Given the description of an element on the screen output the (x, y) to click on. 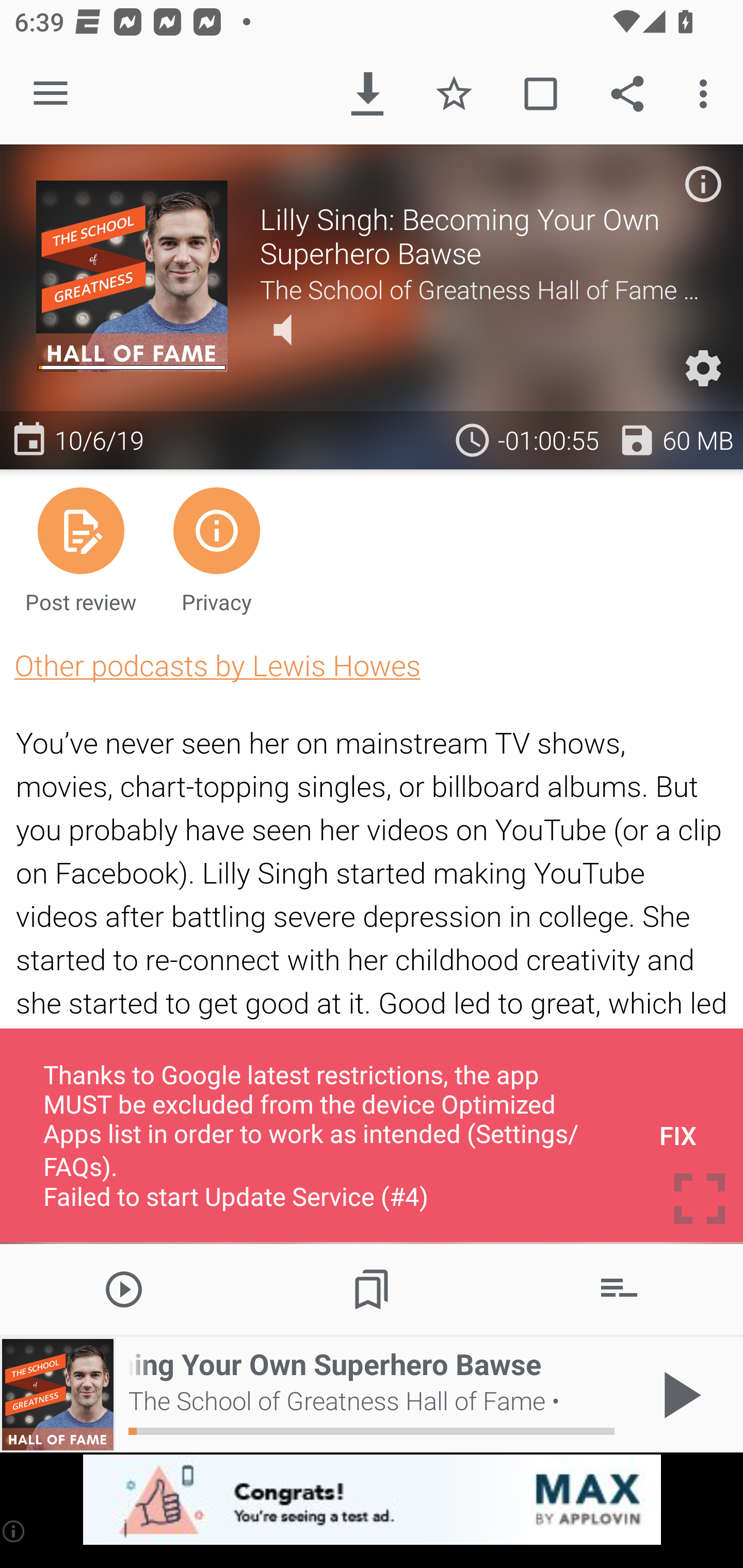
Open navigation sidebar (50, 93)
Download (366, 93)
Favorite (453, 93)
Mark played / unplayed (540, 93)
Share (626, 93)
More options (706, 93)
Podcast description (703, 184)
Lilly Singh: Becoming Your Own Superhero Bawse (483, 235)
Custom Settings (703, 368)
Post review (81, 549)
Privacy (216, 549)
Other podcasts by Lewis Howes (217, 665)
FIX (677, 1135)
Toggle full screen mode (699, 1198)
Play (123, 1288)
Chapters / Bookmarks (371, 1288)
Remove from Playlist (619, 1288)
Play / Pause (677, 1394)
app-monetization (371, 1500)
(i) (14, 1531)
